Given the description of an element on the screen output the (x, y) to click on. 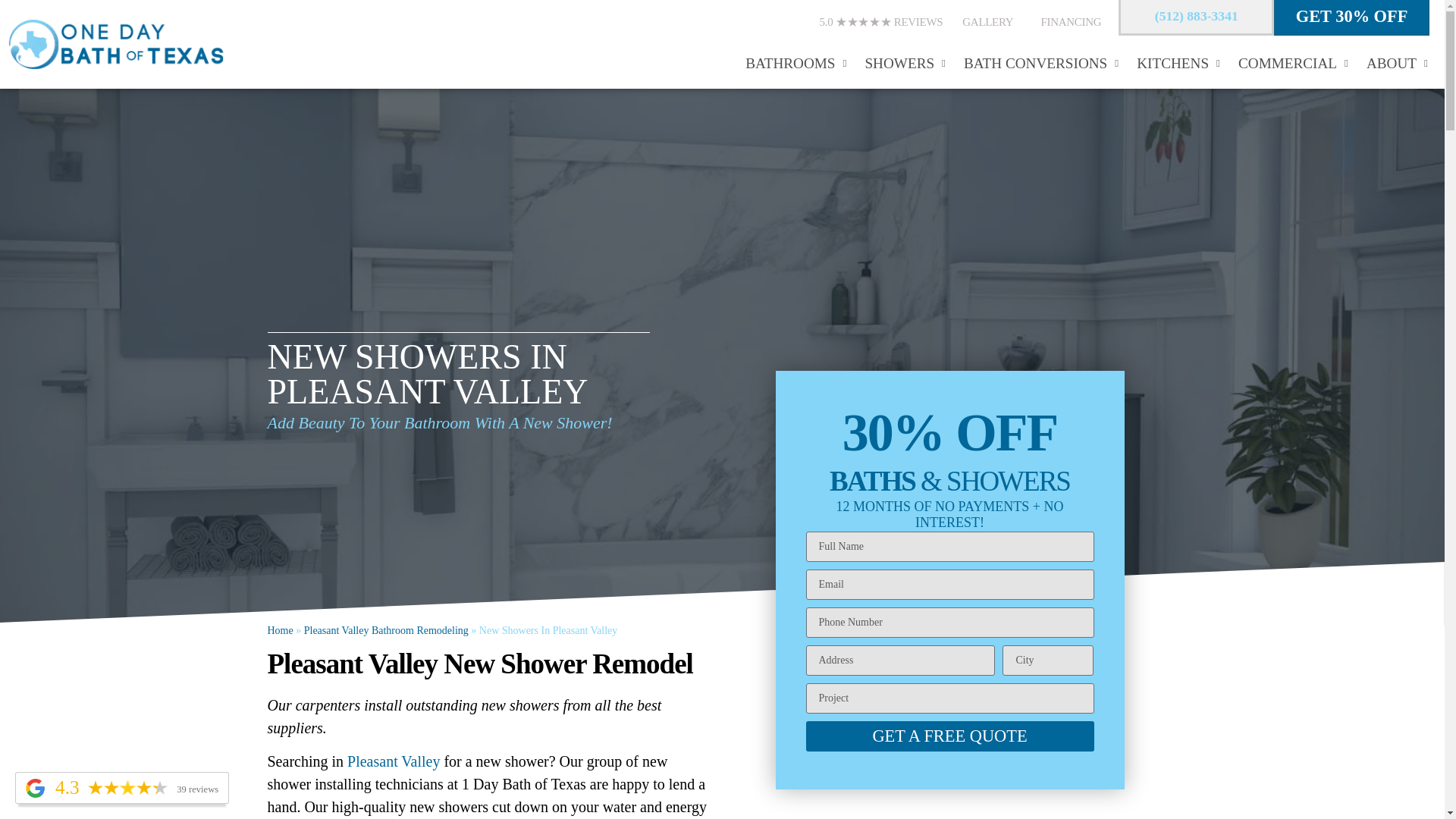
Powered by Google (35, 787)
